Given the description of an element on the screen output the (x, y) to click on. 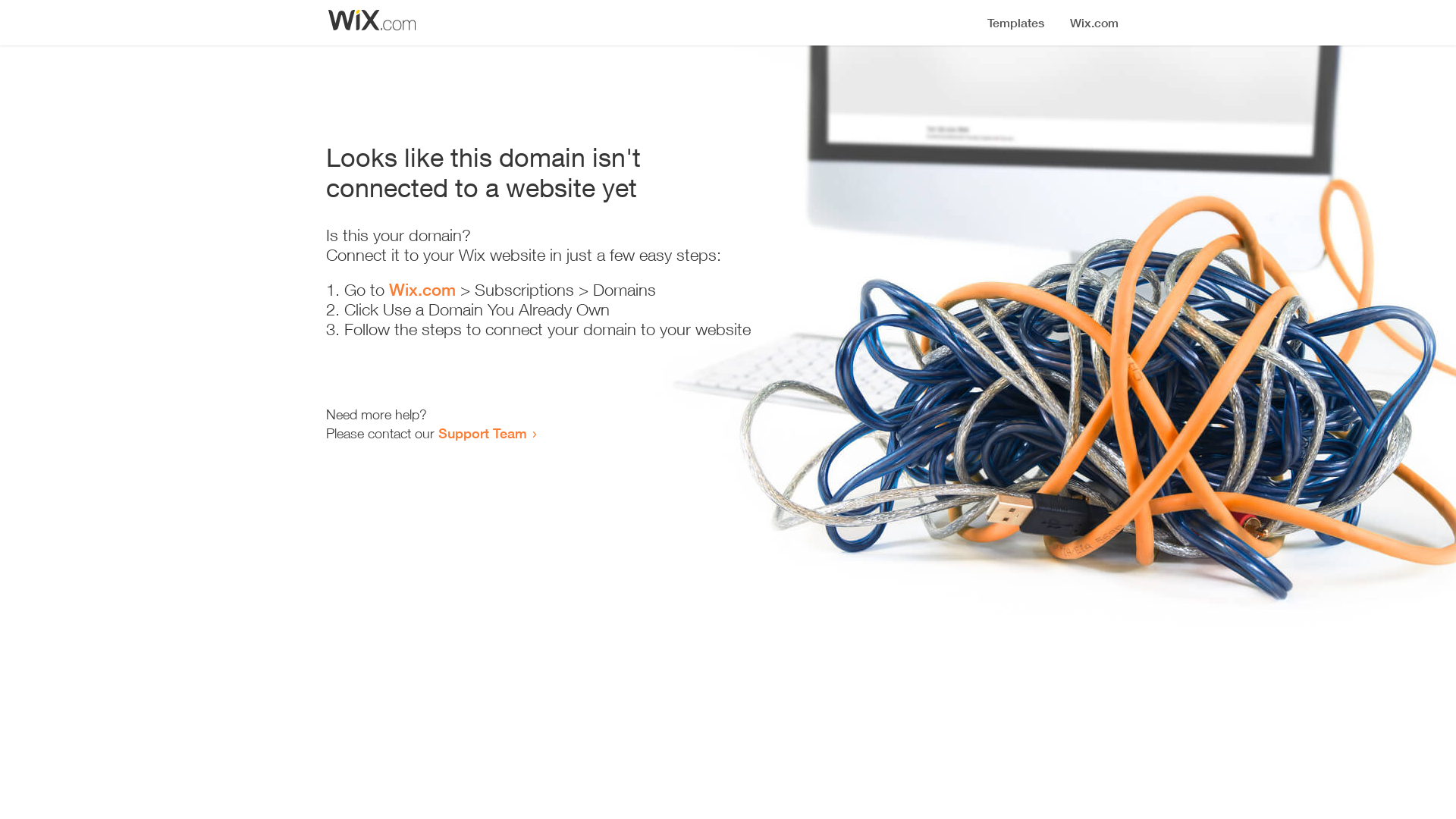
Wix.com Element type: text (422, 289)
Support Team Element type: text (482, 432)
